Given the description of an element on the screen output the (x, y) to click on. 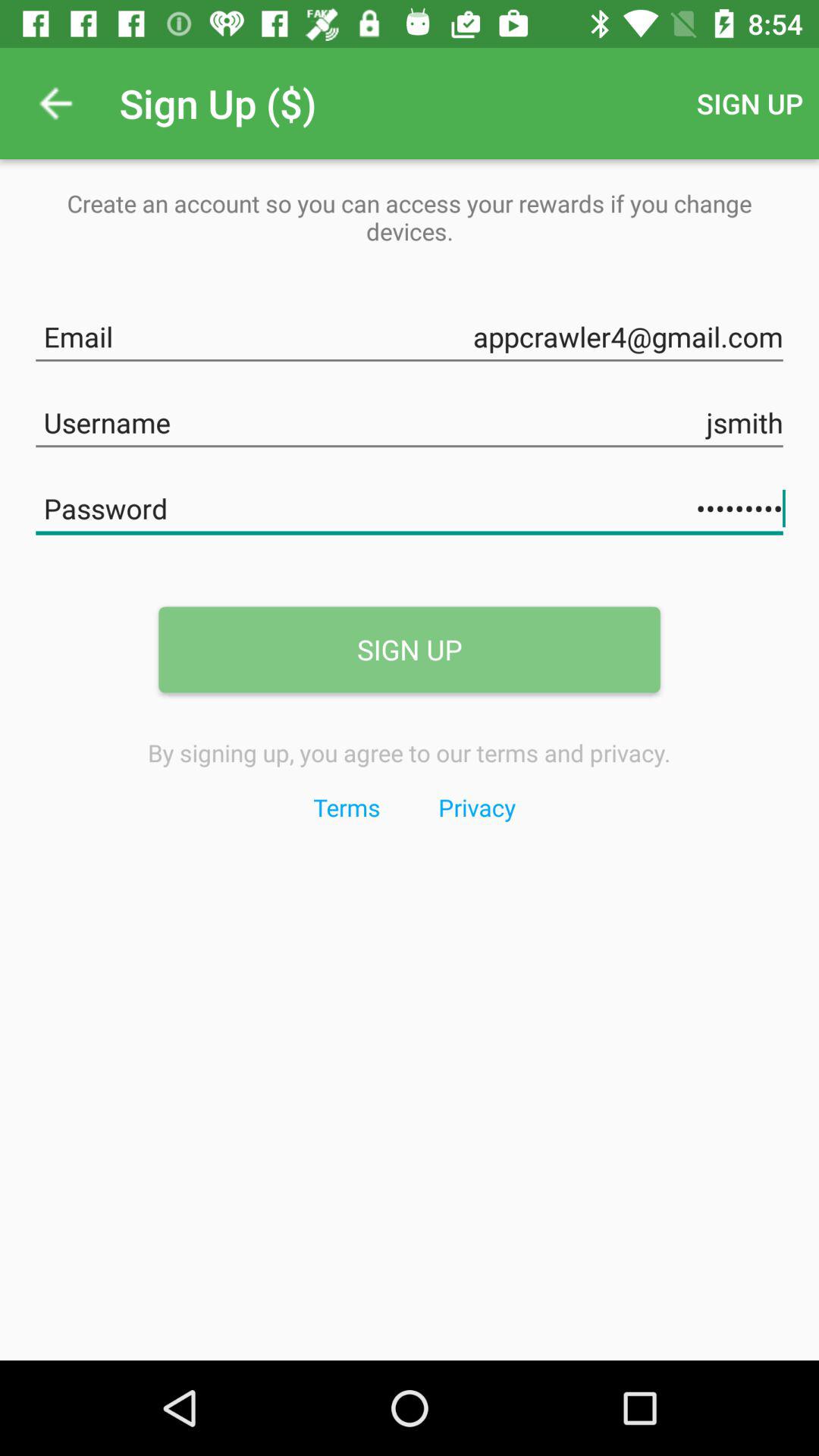
launch icon above crowd3116 icon (409, 419)
